Given the description of an element on the screen output the (x, y) to click on. 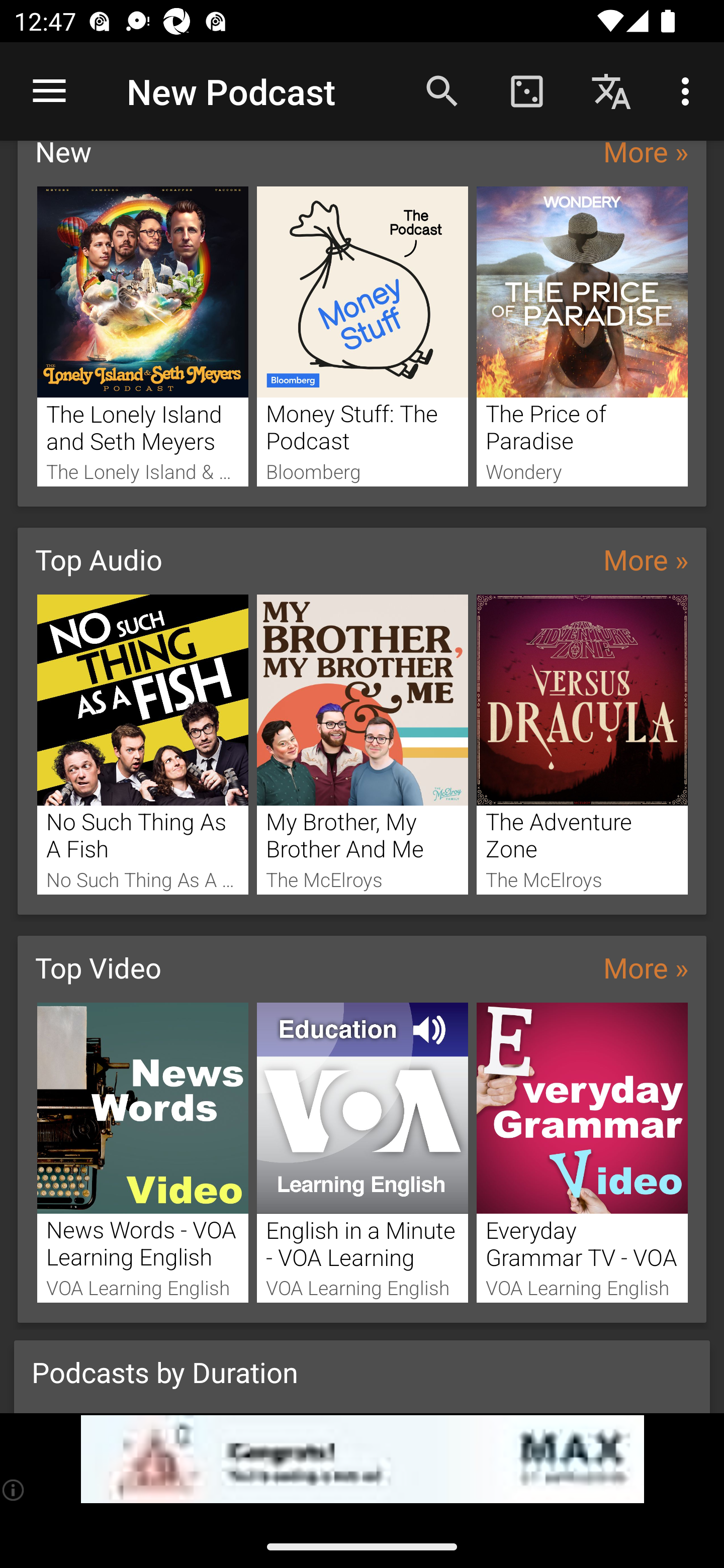
Open navigation sidebar (49, 91)
Search (442, 90)
Random pick (526, 90)
Podcast languages (611, 90)
More options (688, 90)
More » (645, 155)
Money Stuff: The Podcast Bloomberg (362, 336)
The Price of Paradise Wondery (581, 336)
More » (645, 559)
No Such Thing As A Fish (142, 744)
My Brother, My Brother And Me The McElroys (362, 744)
The Adventure Zone The McElroys (581, 744)
More » (645, 967)
app-monetization (362, 1459)
(i) (14, 1489)
